Given the description of an element on the screen output the (x, y) to click on. 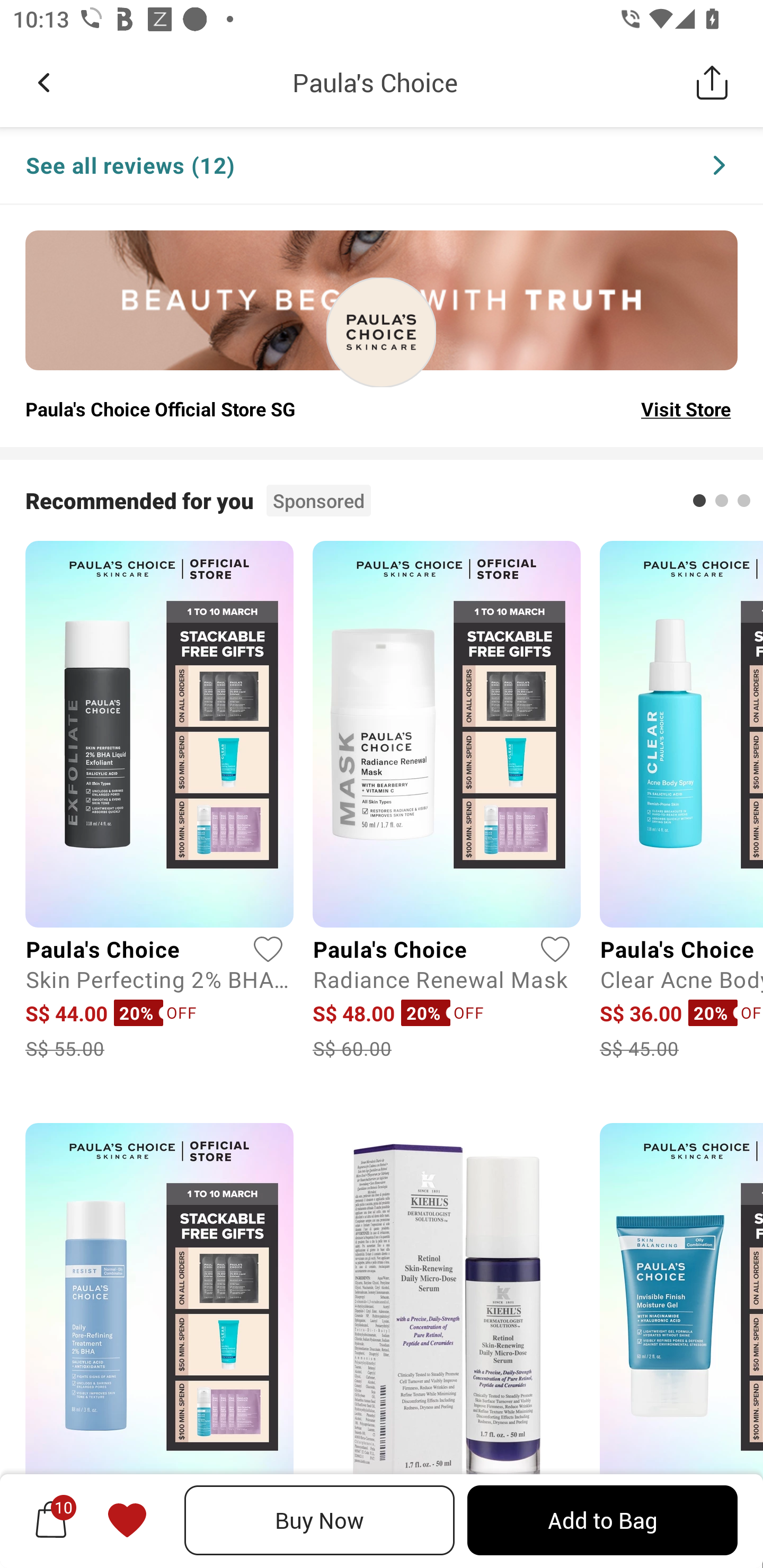
Paula's Choice (375, 82)
Share this Product (711, 82)
See all reviews (12) (381, 166)
content description (381, 332)
Paula's Choice Official Store SG (160, 408)
Visit Store (685, 408)
Buy Now (319, 1519)
Add to Bag (601, 1519)
10 (50, 1520)
